Given the description of an element on the screen output the (x, y) to click on. 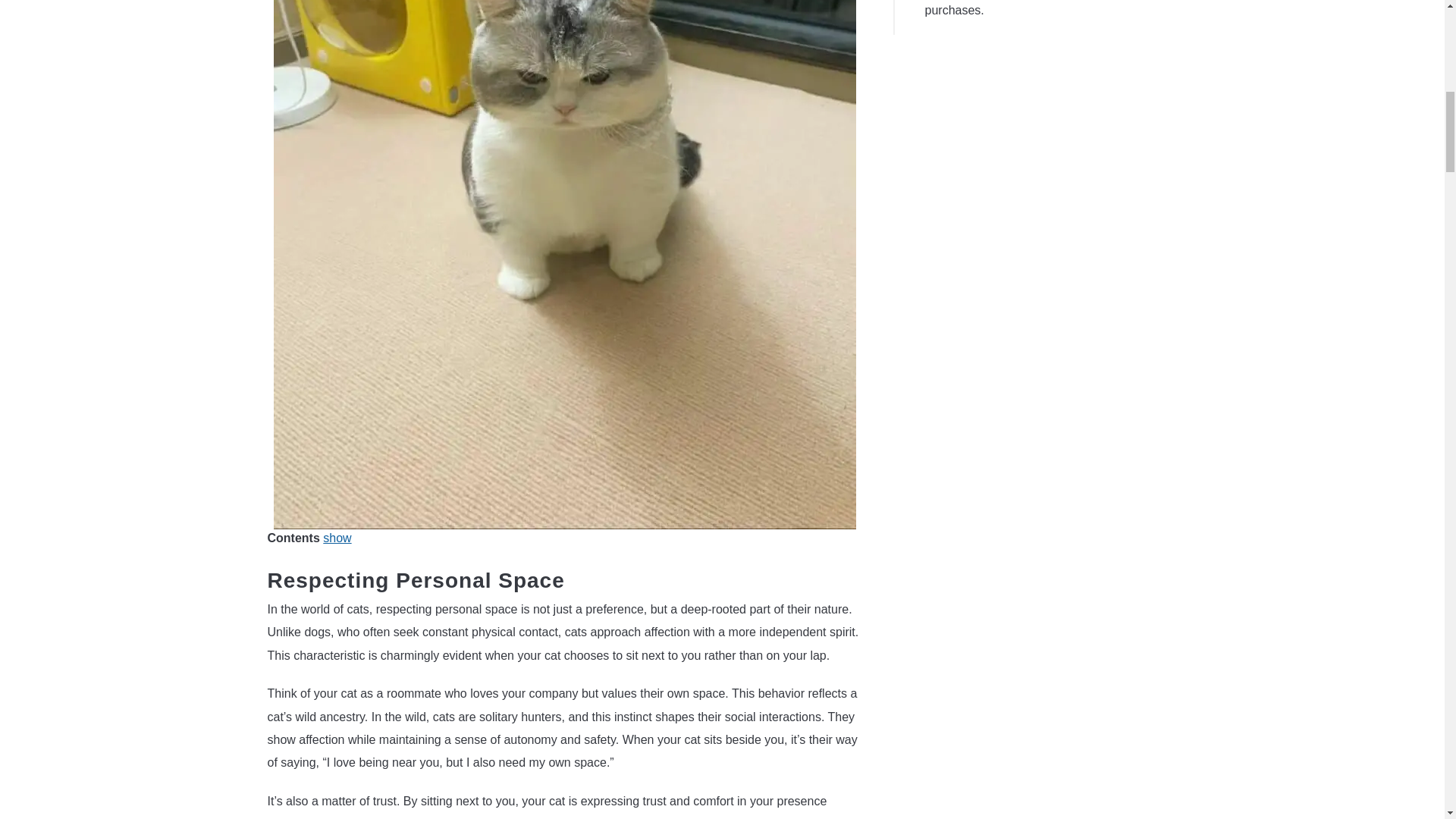
show (336, 537)
